Given the description of an element on the screen output the (x, y) to click on. 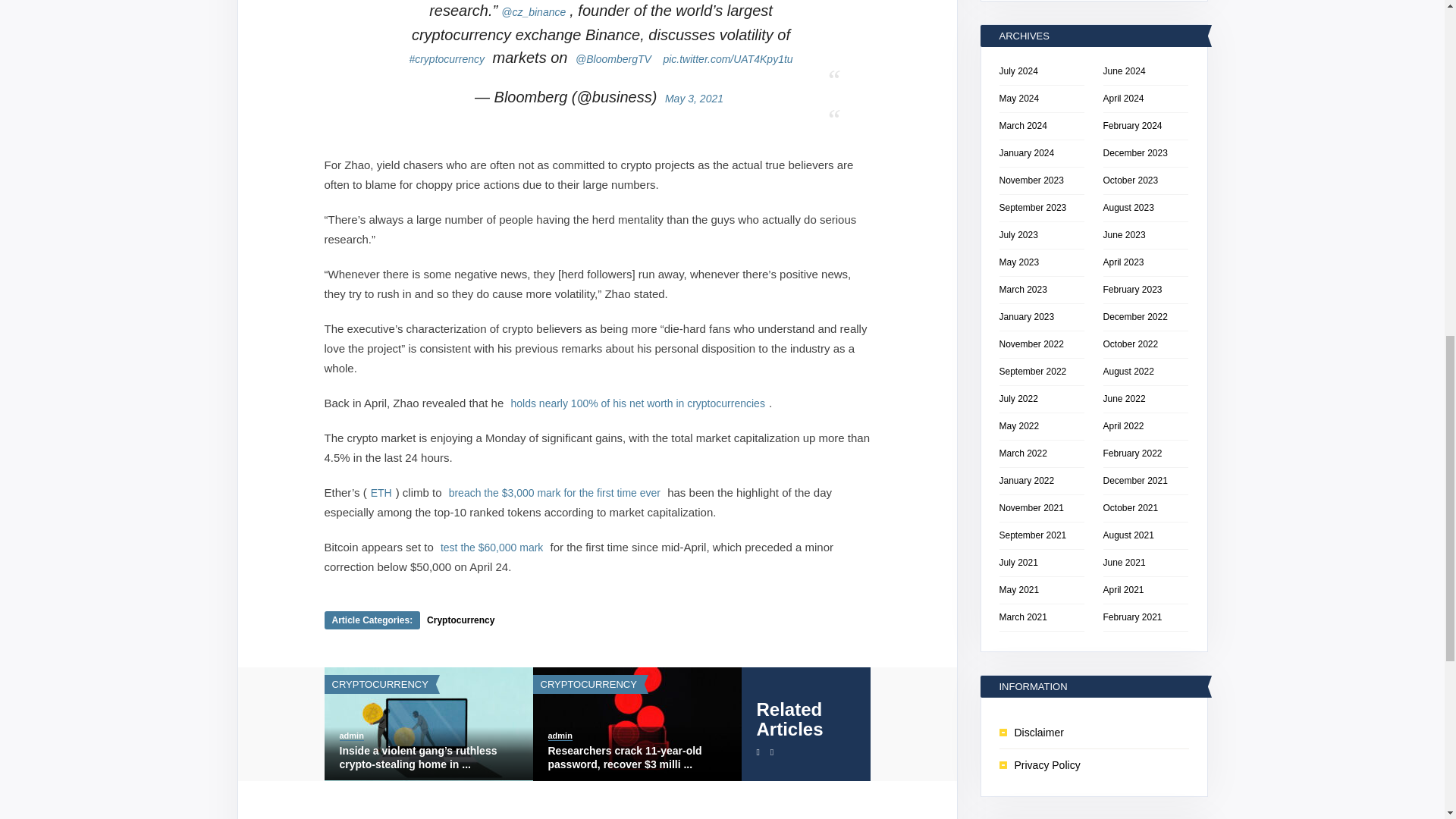
May 3, 2021 (693, 97)
ETH (381, 492)
Cryptocurrency (460, 620)
